Given the description of an element on the screen output the (x, y) to click on. 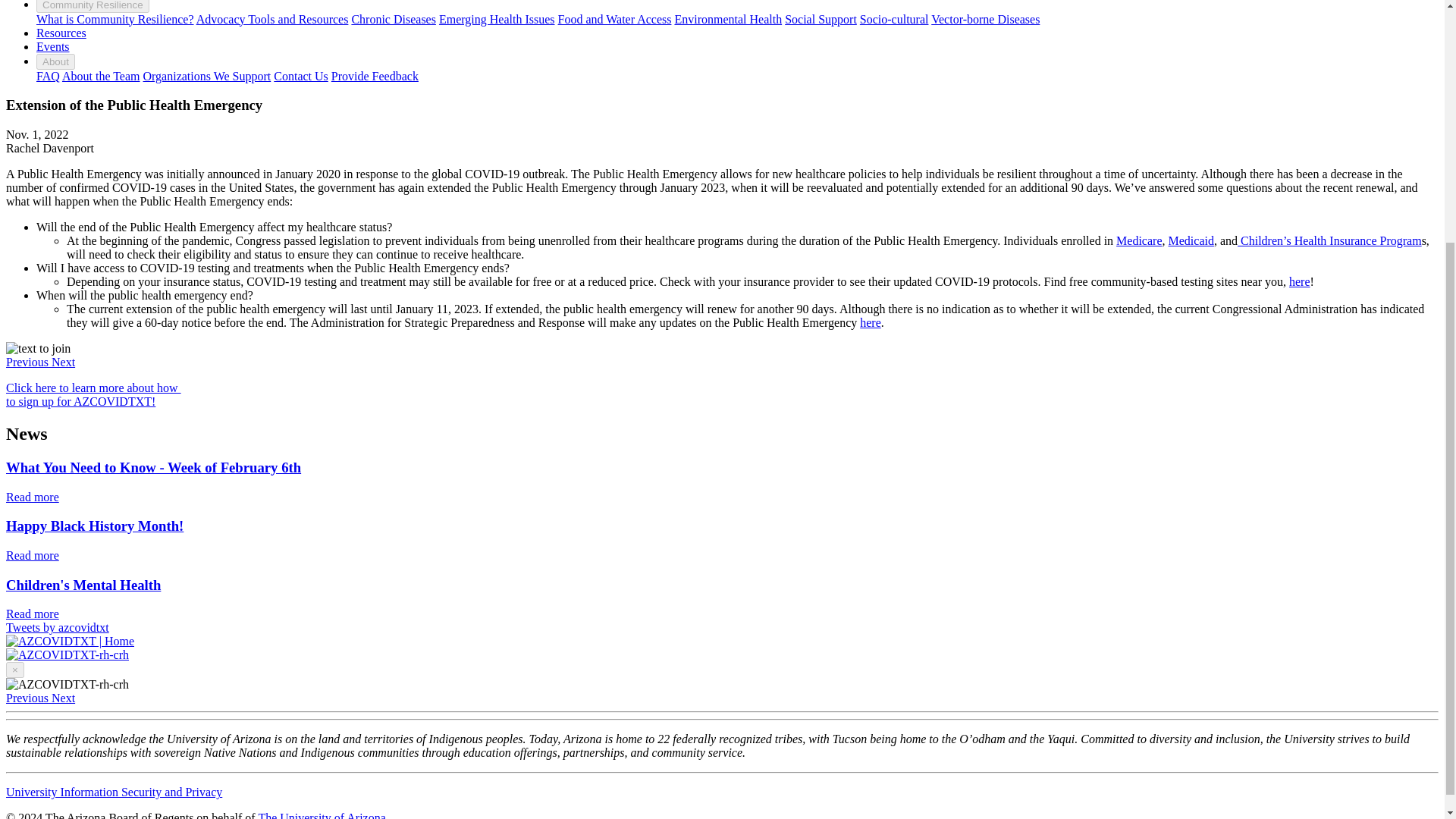
Community Resilience (92, 6)
Vector-borne Diseases (985, 19)
Events (52, 46)
Provide Feedback (375, 75)
Medicare (1138, 240)
Chronic Diseases (392, 19)
Advocacy Tools and Resources (272, 19)
Socio-cultural (894, 19)
Contact Us (301, 75)
Environmental Health (727, 19)
Organizations We Support (206, 75)
About the Team (100, 75)
Social Support (820, 19)
Food and Water Access (614, 19)
About (55, 61)
